Given the description of an element on the screen output the (x, y) to click on. 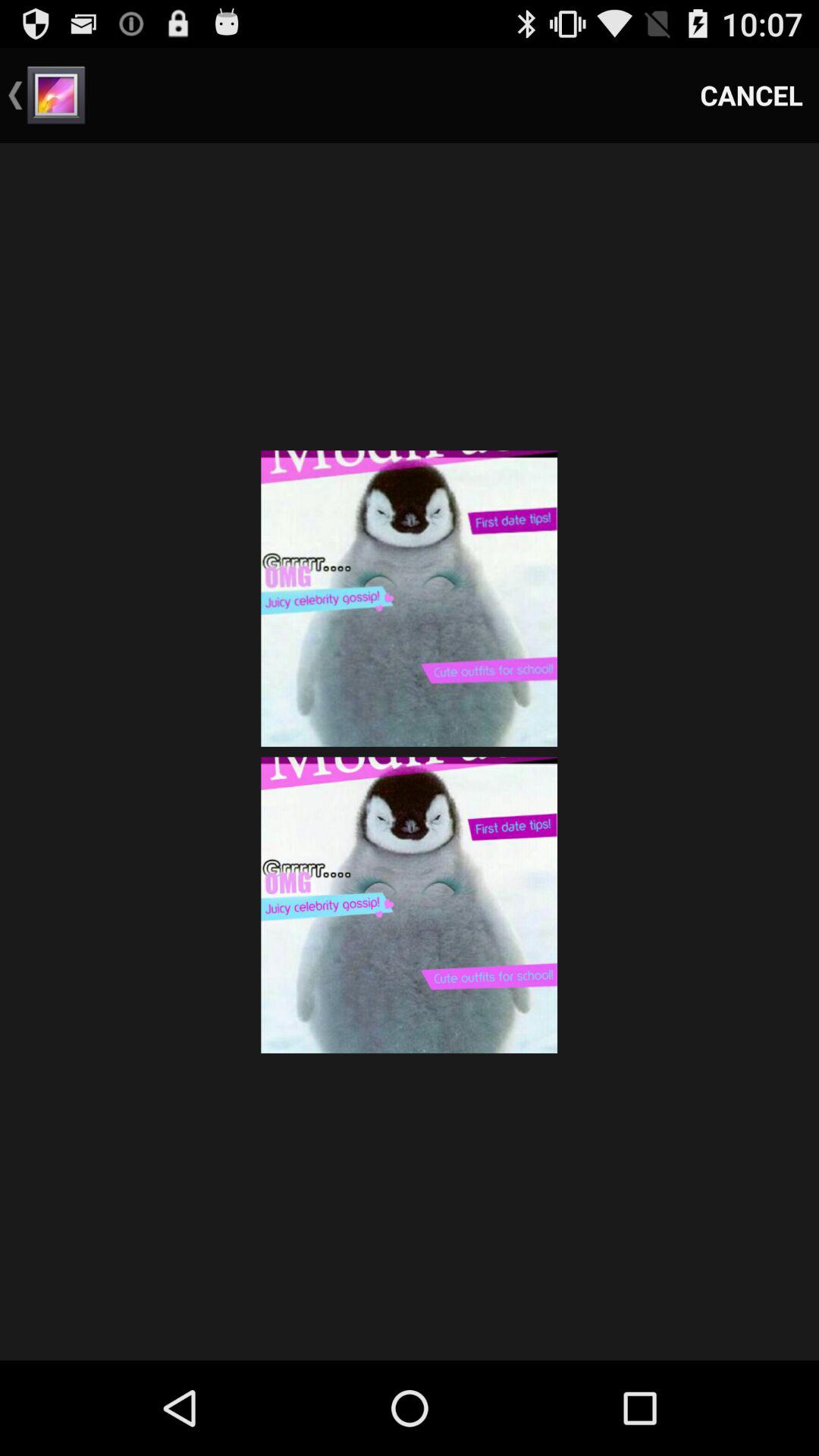
choose the cancel item (751, 95)
